Given the description of an element on the screen output the (x, y) to click on. 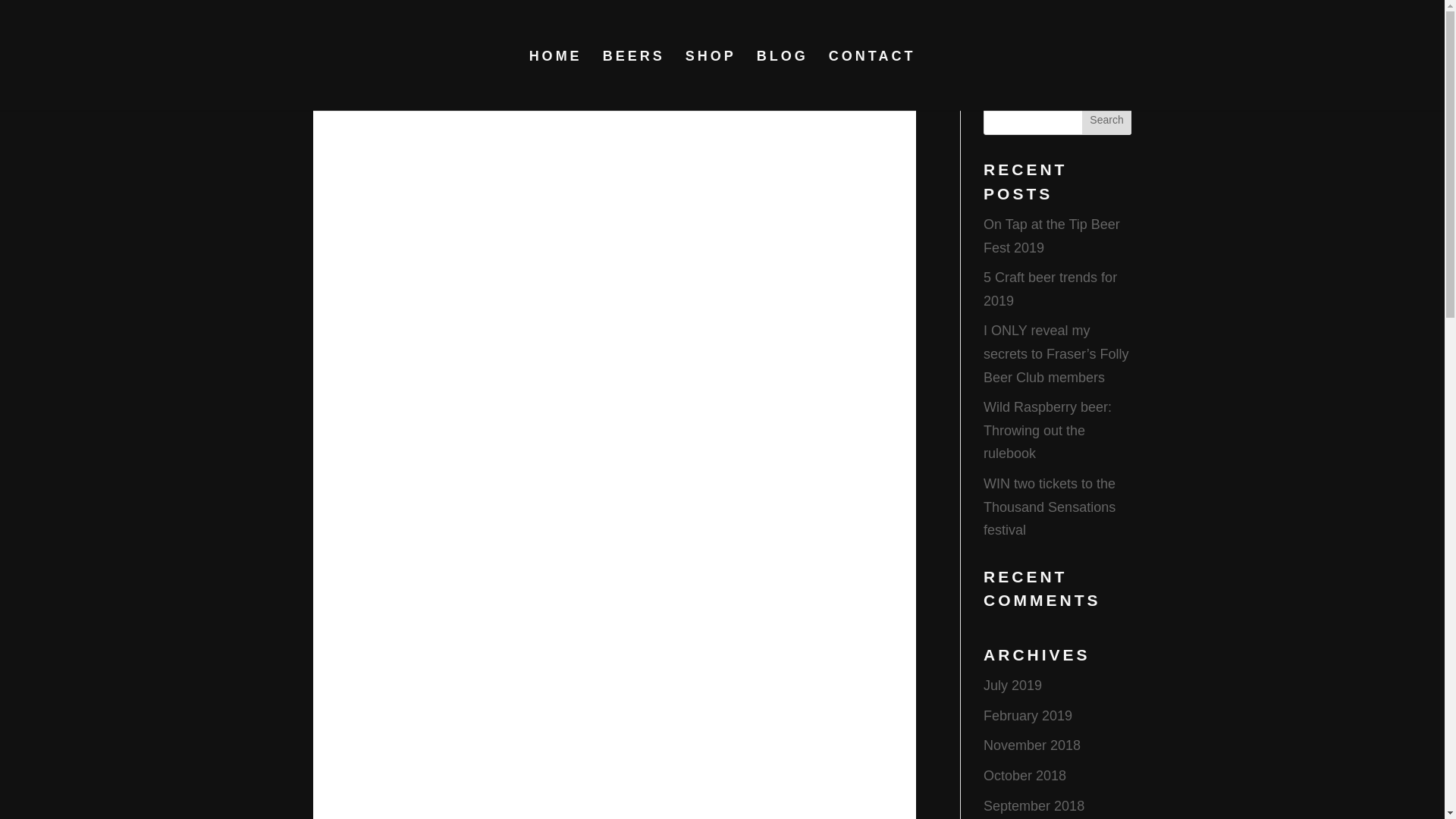
Wild Raspberry beer: Throwing out the rulebook (1048, 430)
On Tap at the Tip Beer Fest 2019 (1051, 236)
July 2019 (1013, 685)
February 2019 (1027, 715)
WIN two tickets to the Thousand Sensations festival (1049, 506)
BLOG (782, 80)
HOME (555, 80)
Search (1106, 119)
October 2018 (1024, 775)
SHOP (710, 80)
CONTACT (871, 80)
5 Craft beer trends for 2019 (1050, 289)
November 2018 (1032, 744)
September 2018 (1034, 806)
Search (1106, 119)
